Given the description of an element on the screen output the (x, y) to click on. 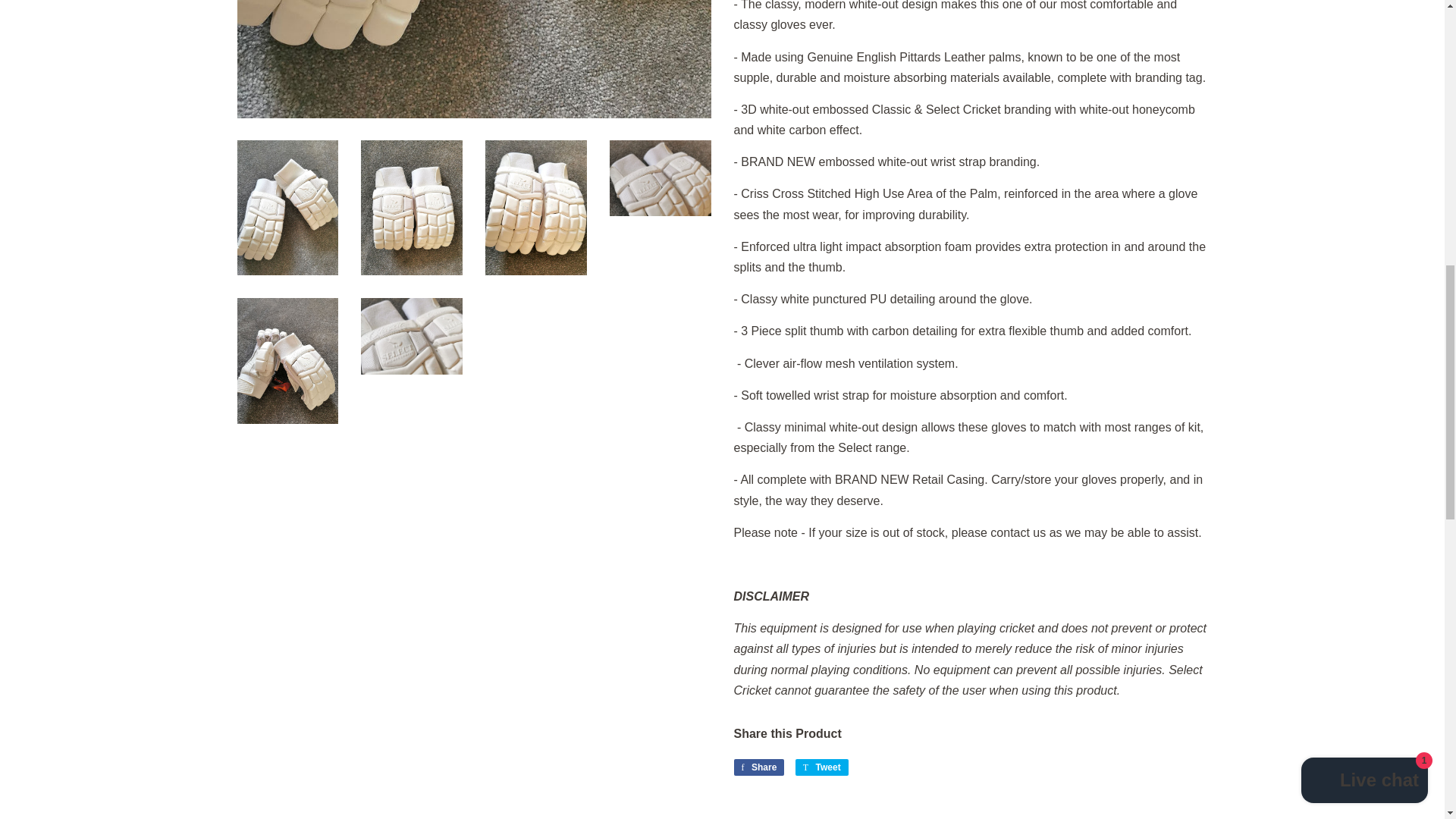
Tweet on Twitter (821, 767)
Share on Facebook (758, 767)
